Given the description of an element on the screen output the (x, y) to click on. 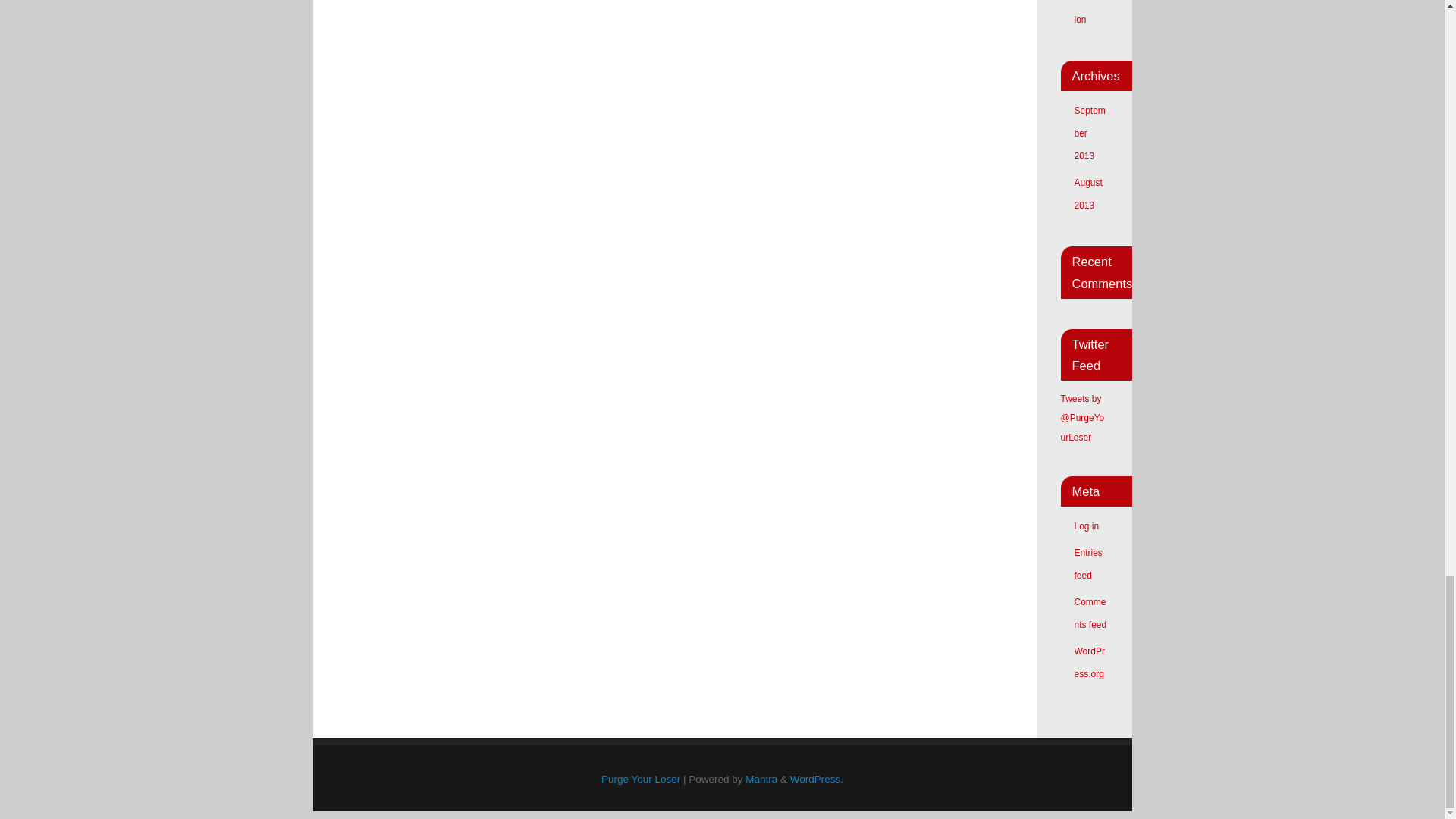
Comments feed (1090, 613)
Semantic Personal Publishing Platform (816, 778)
Purge Your Loser (640, 778)
Purge Your Loser (640, 778)
Mantra (761, 778)
Mantra Theme by Cryout Creations (761, 778)
WordPress. (816, 778)
Pre-Production (1089, 12)
WordPress.org (1088, 662)
Log in (1086, 525)
